Given the description of an element on the screen output the (x, y) to click on. 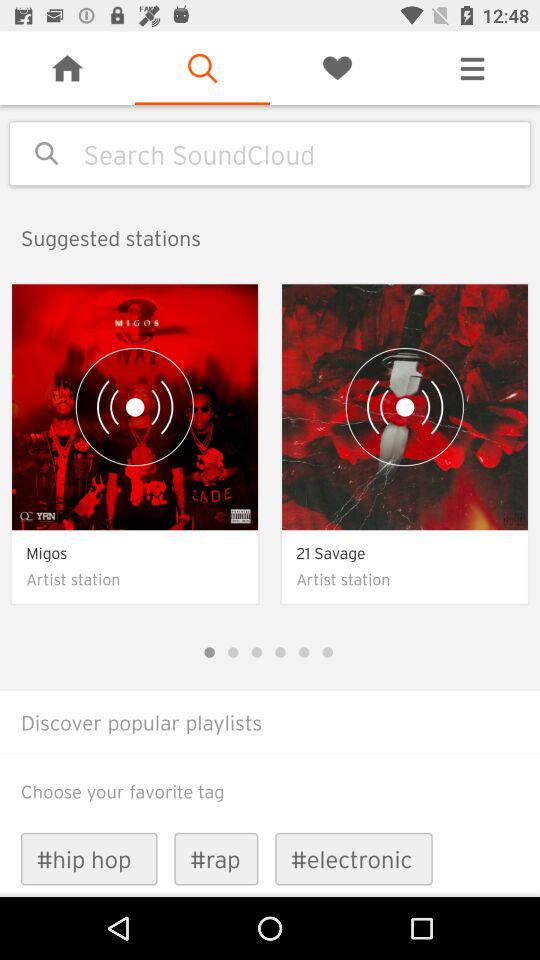
select the item below the choose your favorite icon (216, 858)
